Given the description of an element on the screen output the (x, y) to click on. 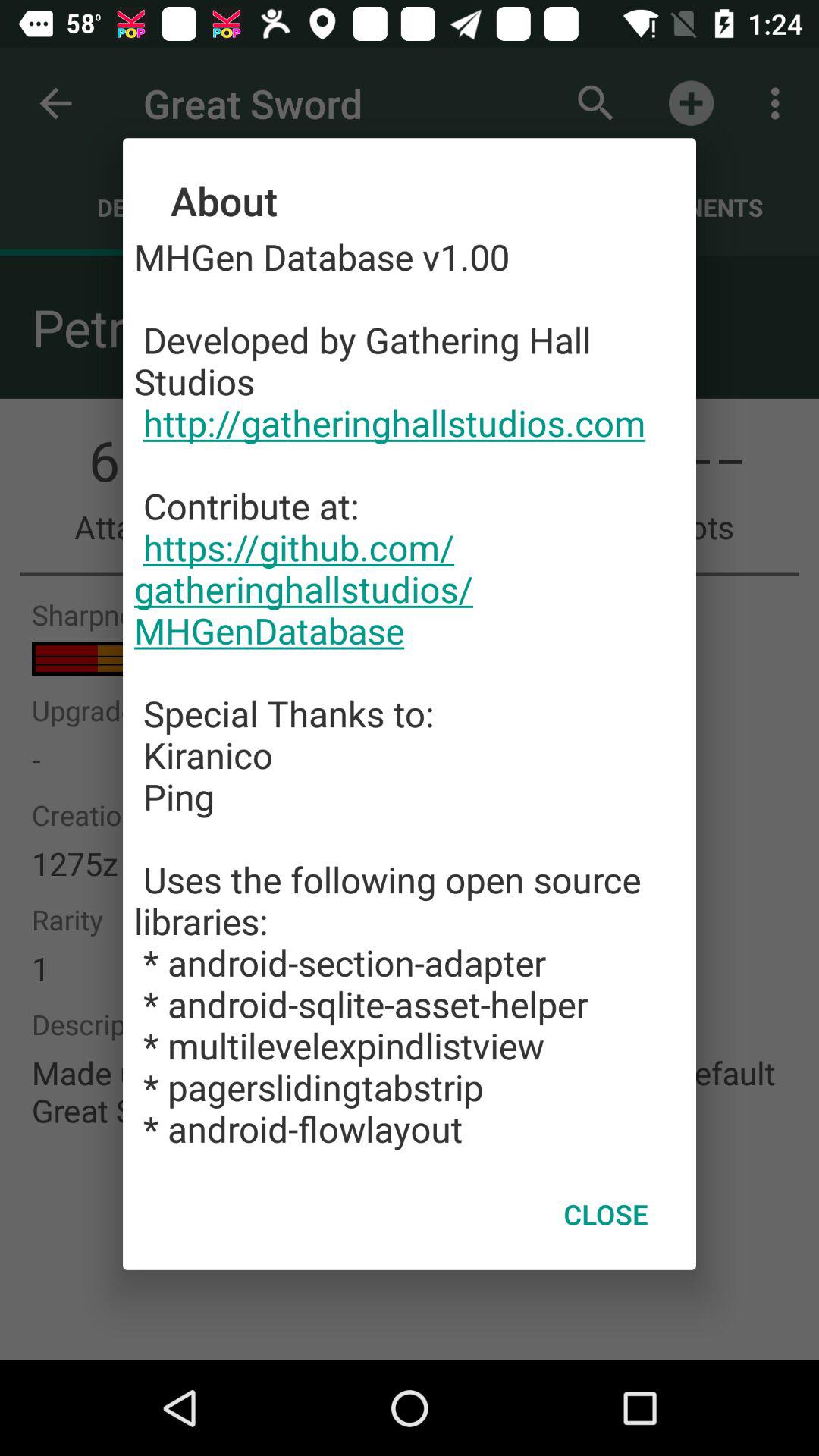
turn off icon below about icon (409, 692)
